Given the description of an element on the screen output the (x, y) to click on. 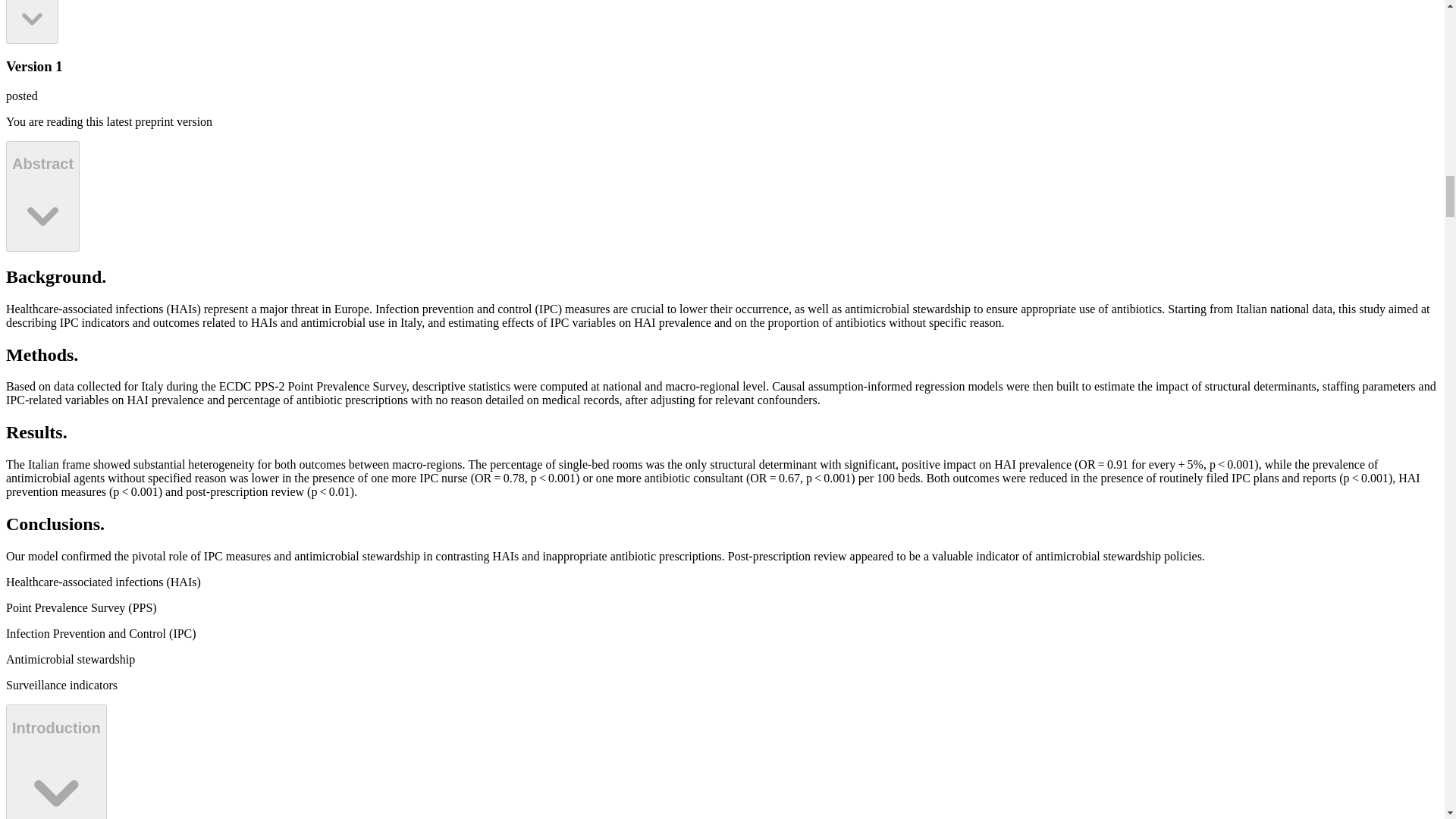
Introduction (55, 761)
Abstract (31, 22)
